Given the description of an element on the screen output the (x, y) to click on. 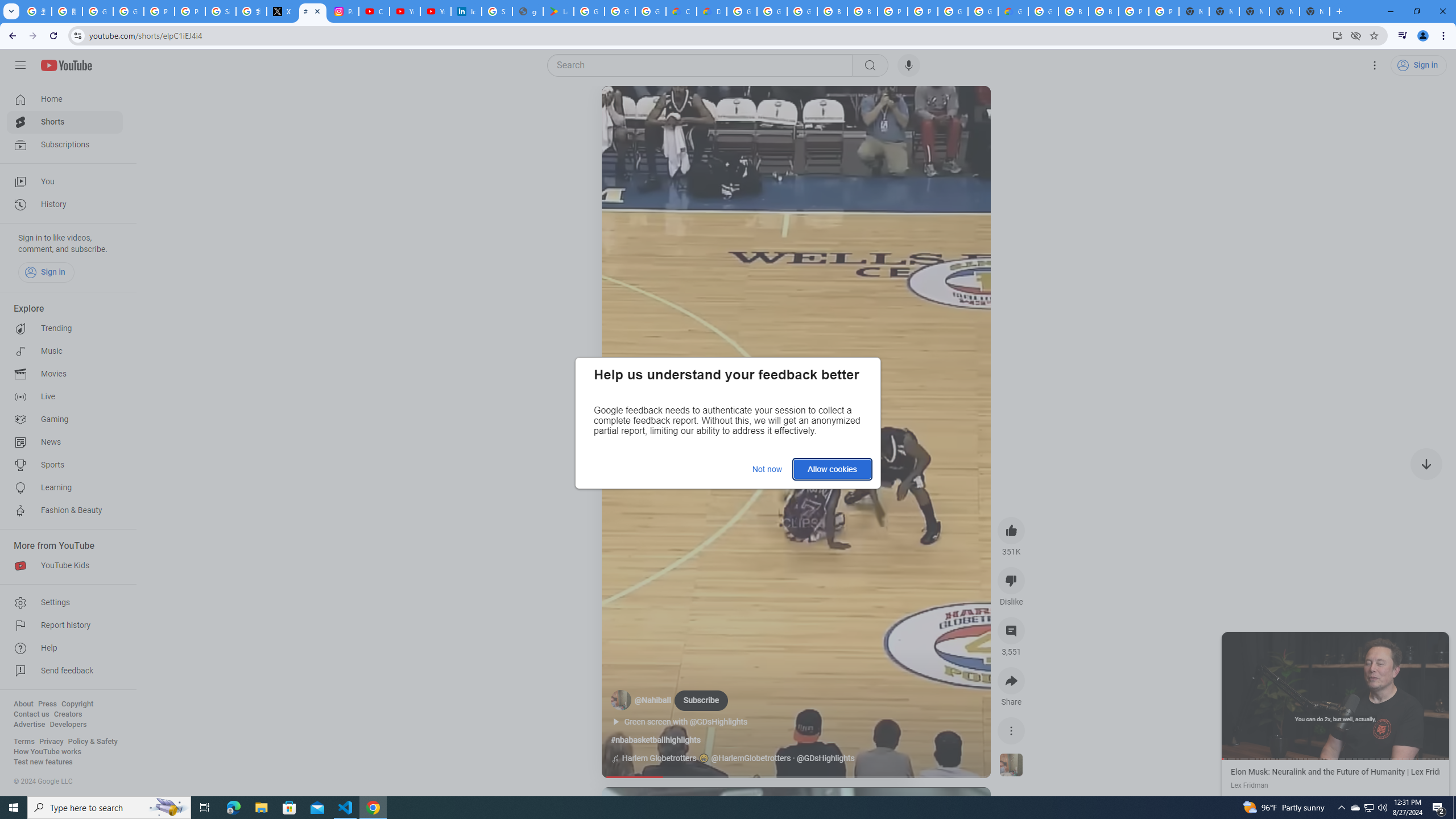
Privacy Help Center - Policies Help (158, 11)
Home (64, 99)
like this video along with 351K other people (1011, 530)
Shorts (64, 121)
Share (1011, 680)
Creators (67, 714)
#nbabasketballhighlights (655, 740)
Trending (64, 328)
Browse Chrome as a guest - Computer - Google Chrome Help (1103, 11)
